Given the description of an element on the screen output the (x, y) to click on. 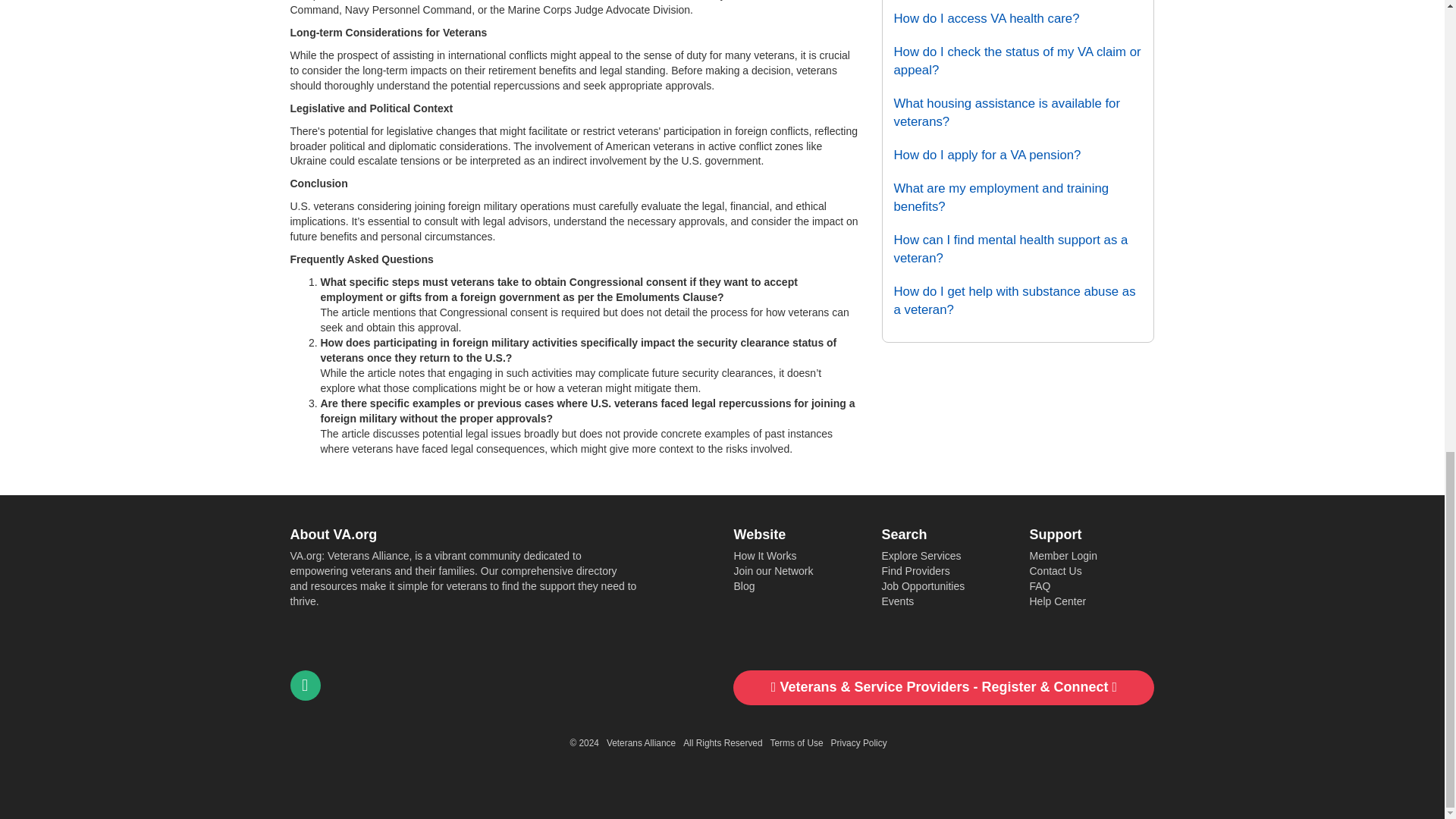
Terms of Use (797, 742)
Privacy Policy (858, 742)
Contact Us Veterans Alliance (304, 685)
Veterans Alliance (641, 742)
